Given the description of an element on the screen output the (x, y) to click on. 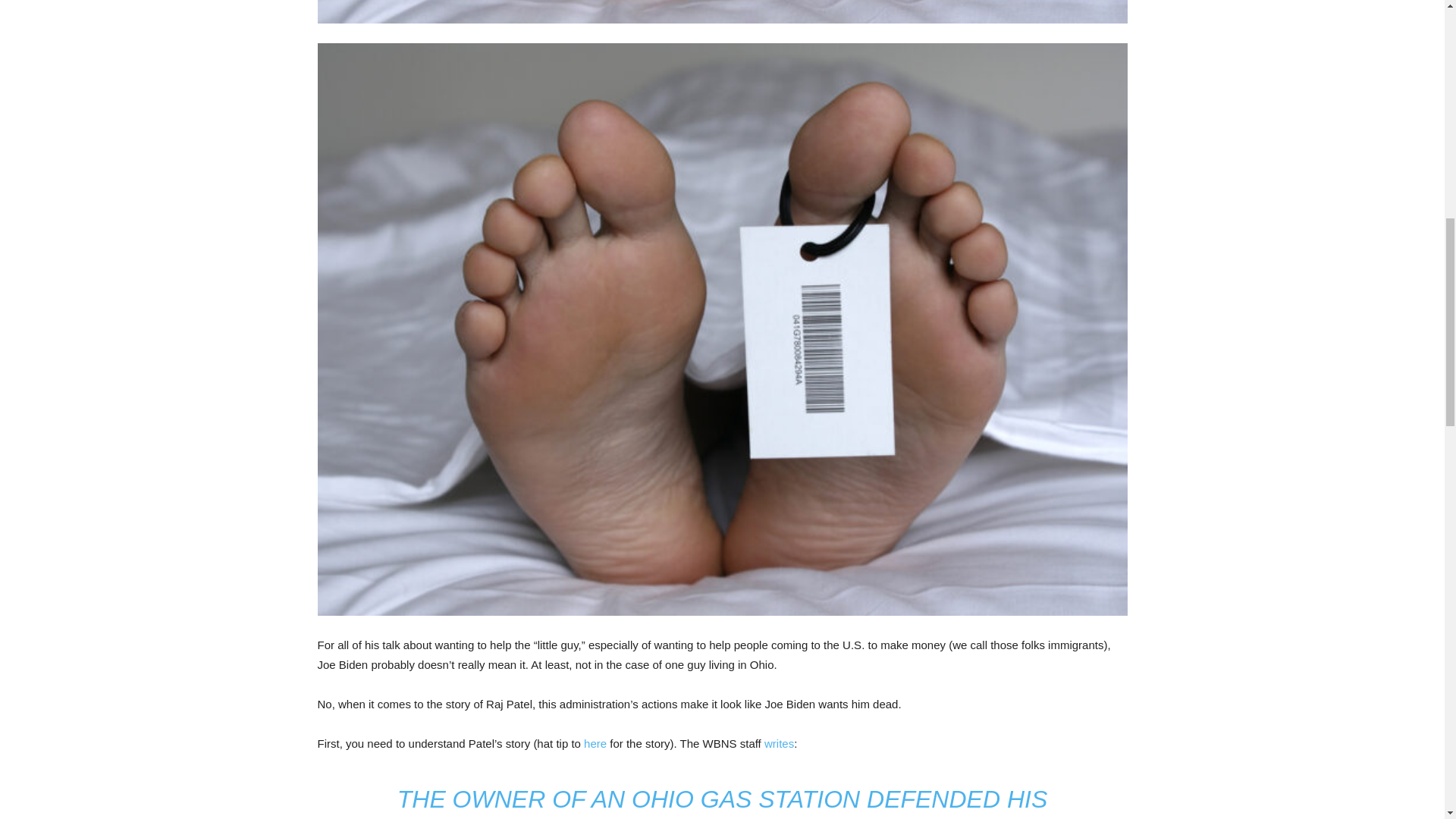
here (595, 743)
Would Joe Biden Rather See This Man Dead? (721, 11)
writes (778, 743)
